Given the description of an element on the screen output the (x, y) to click on. 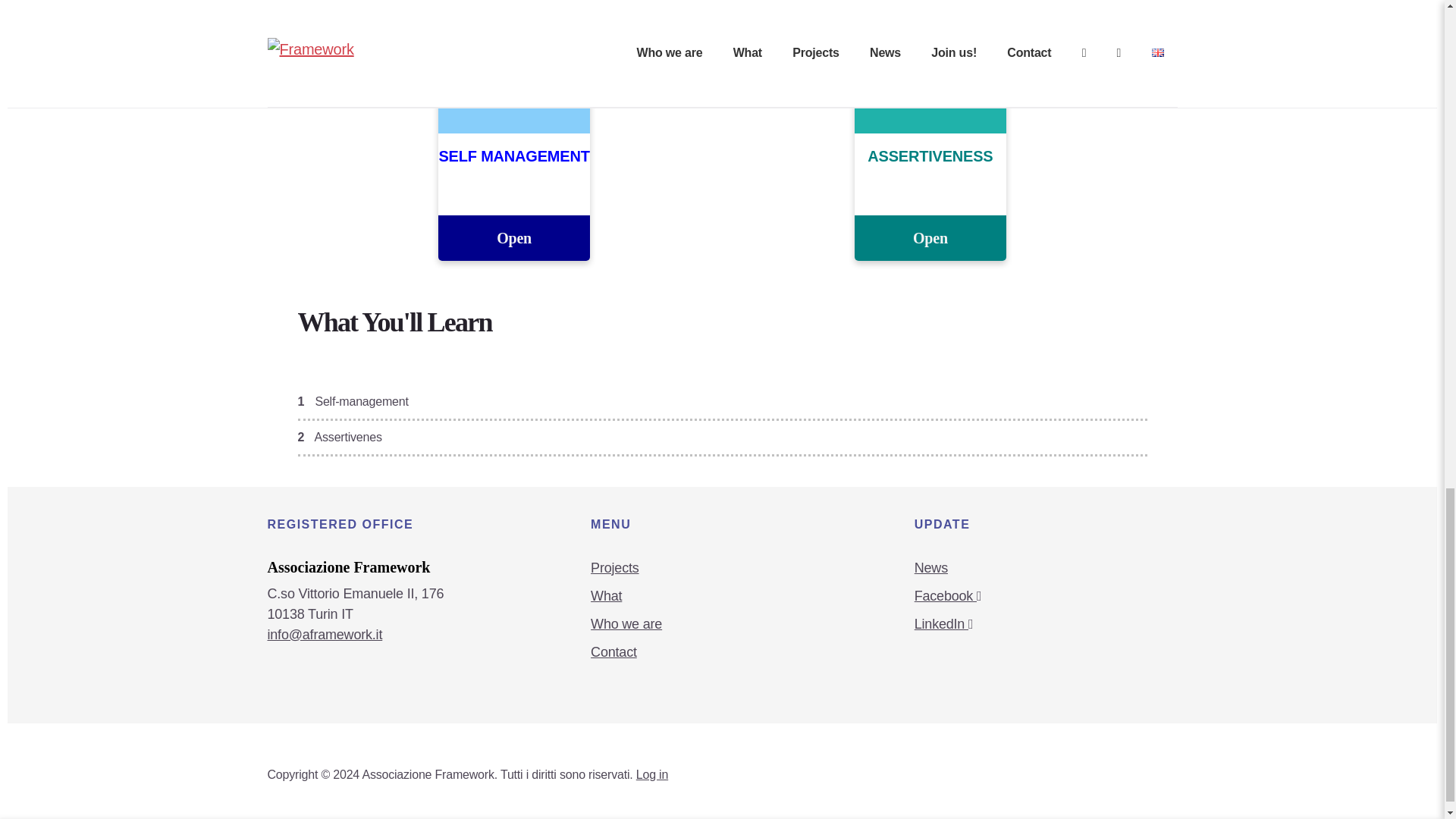
Projects (615, 567)
News (930, 567)
Log in (652, 774)
Open (513, 238)
Who we are (626, 623)
Open (930, 238)
Contact (614, 652)
What (606, 595)
LinkedIn (944, 623)
Facebook (947, 595)
